Given the description of an element on the screen output the (x, y) to click on. 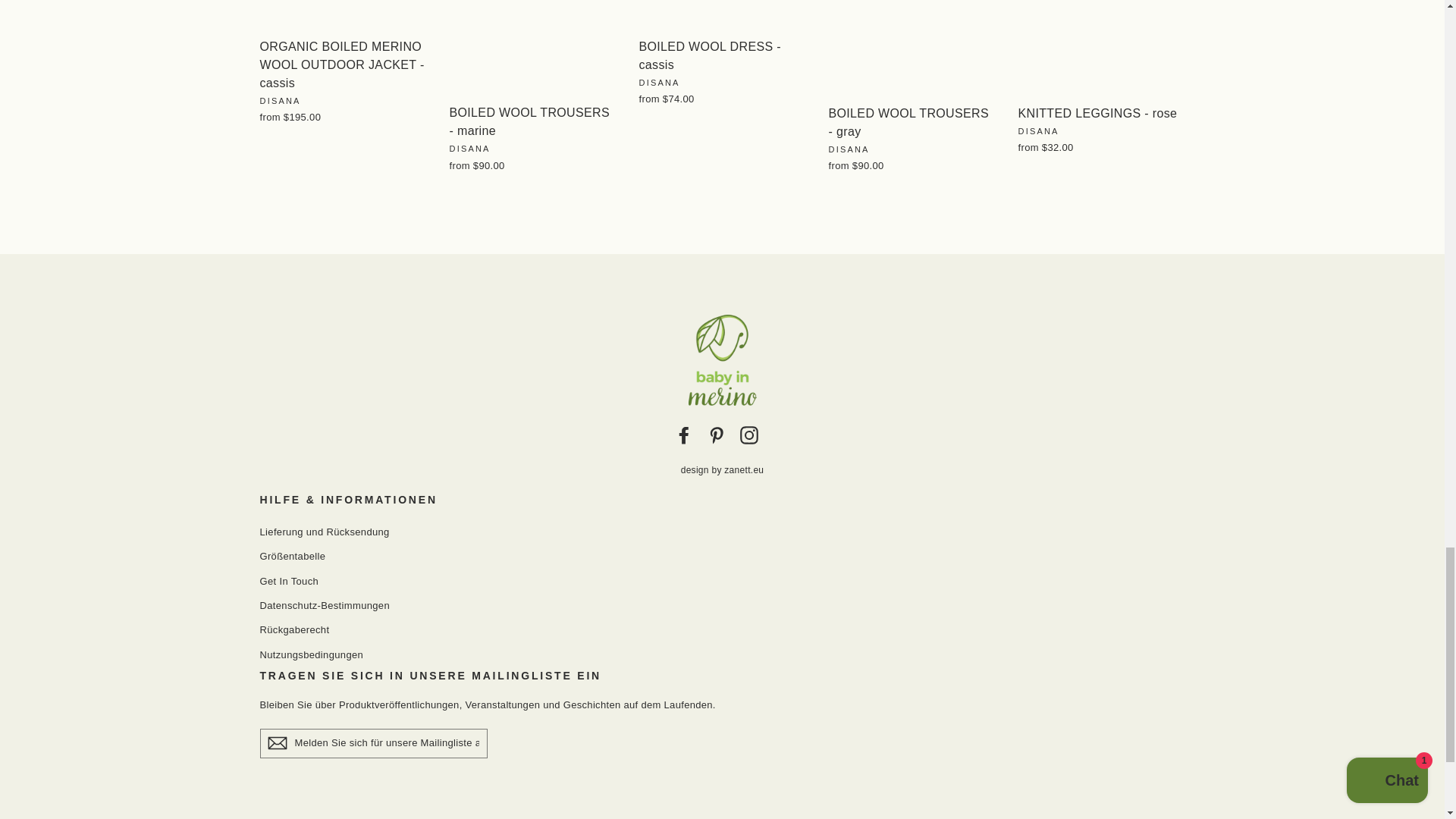
Baby in Merino auf Facebook (684, 434)
Baby in Merino auf Pinterest (716, 434)
Baby in Merino auf Instagram (748, 434)
